Given the description of an element on the screen output the (x, y) to click on. 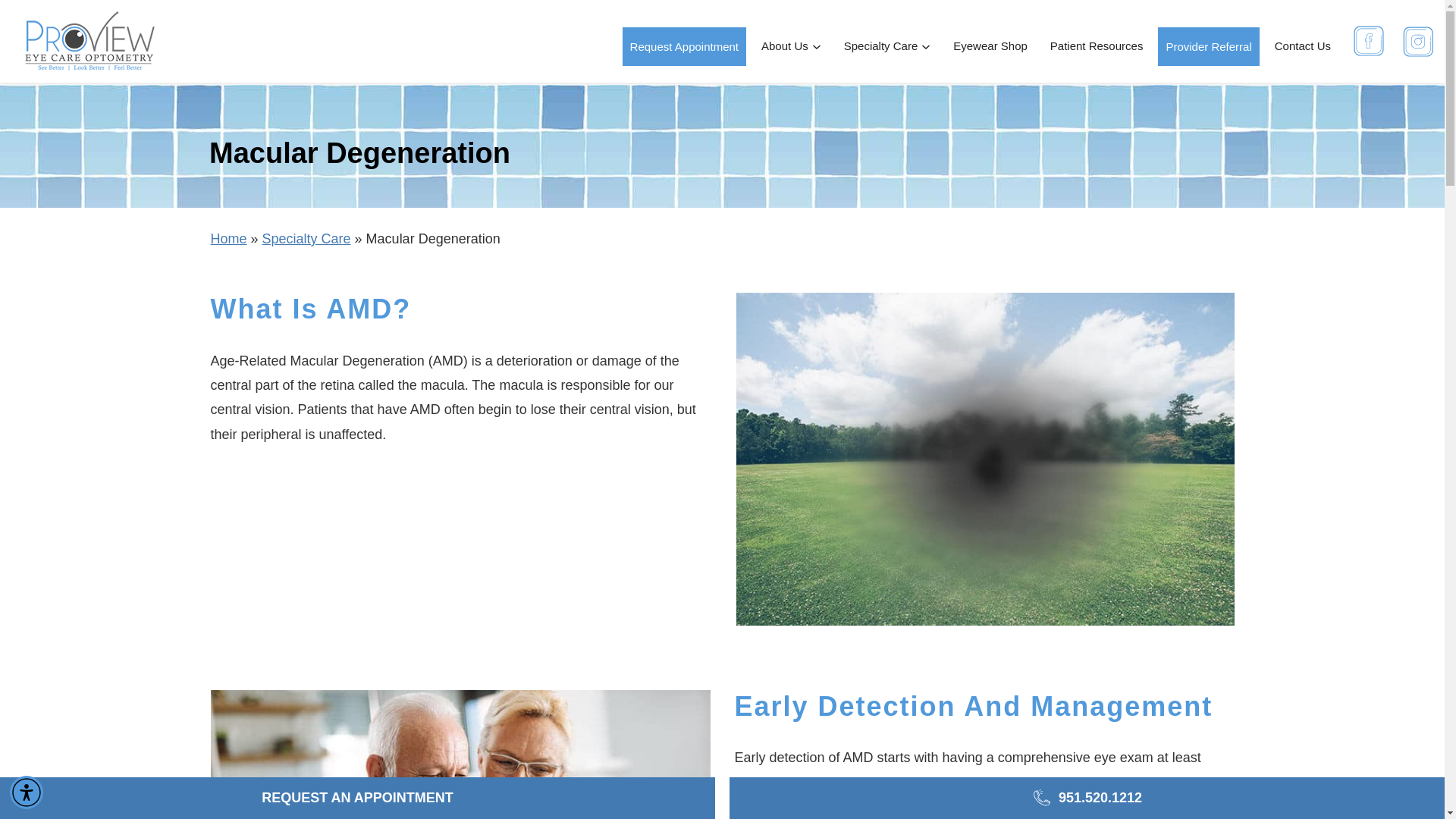
Specialty Care (887, 46)
Provider Referral (1208, 46)
Accessibility Menu (26, 792)
About Us (791, 46)
Home (229, 238)
Specialty Care (306, 238)
Contact Us (1302, 46)
Request Appointment (684, 46)
Patient Resources (1096, 46)
Eyewear Shop (989, 46)
